Given the description of an element on the screen output the (x, y) to click on. 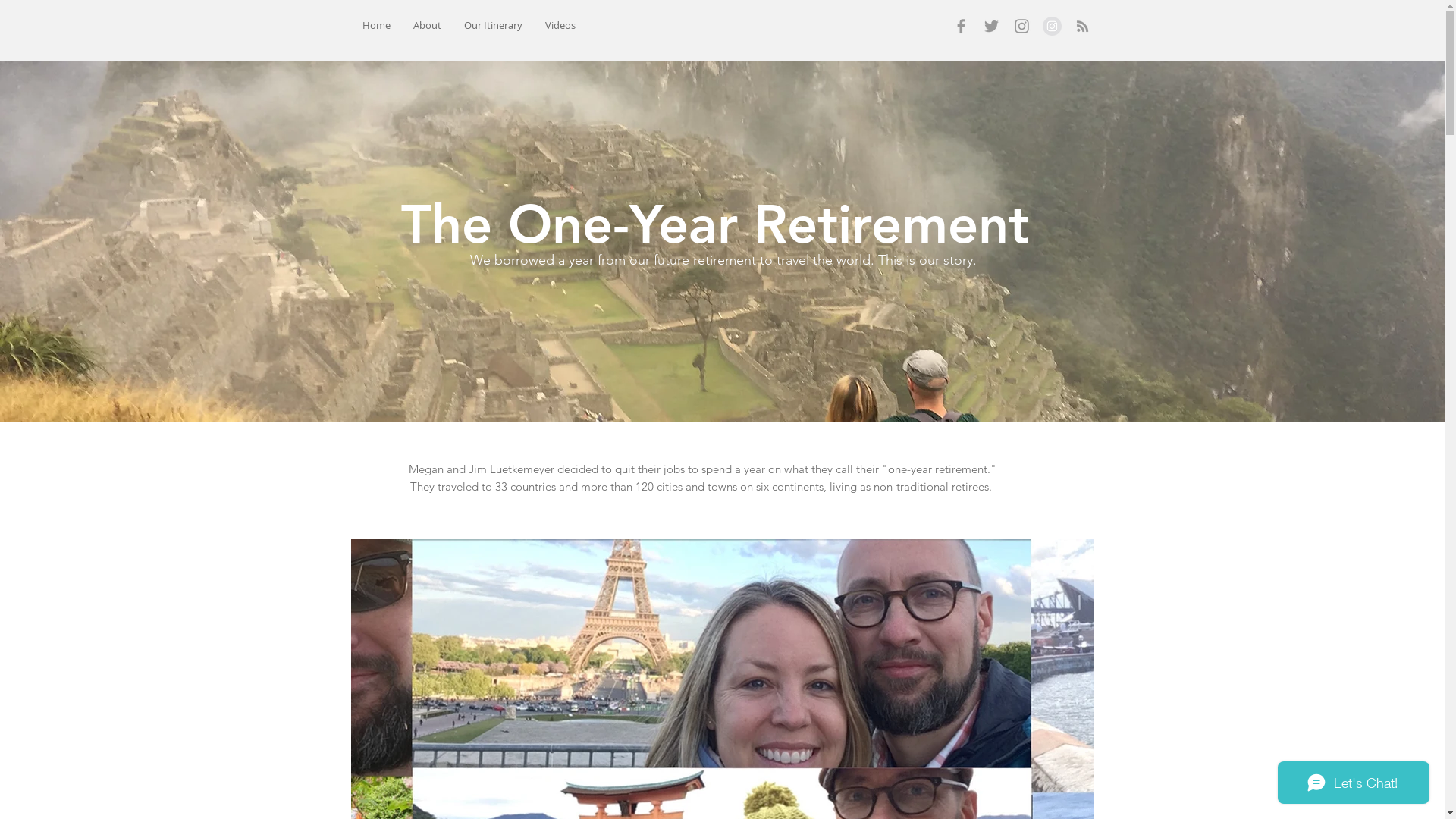
About Element type: text (426, 25)
Our Itinerary Element type: text (492, 25)
Videos Element type: text (559, 25)
Home Element type: text (375, 25)
